Given the description of an element on the screen output the (x, y) to click on. 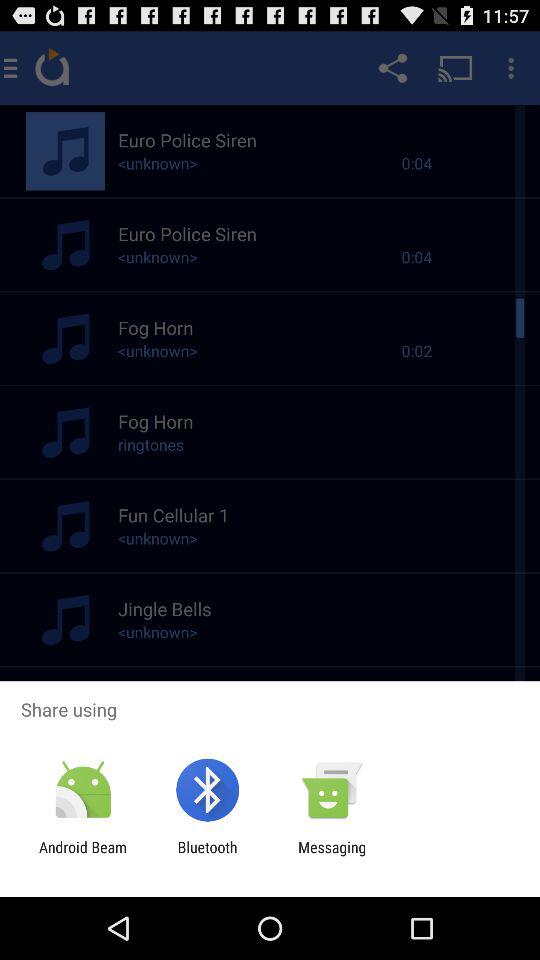
turn off the item next to the bluetooth (332, 856)
